Given the description of an element on the screen output the (x, y) to click on. 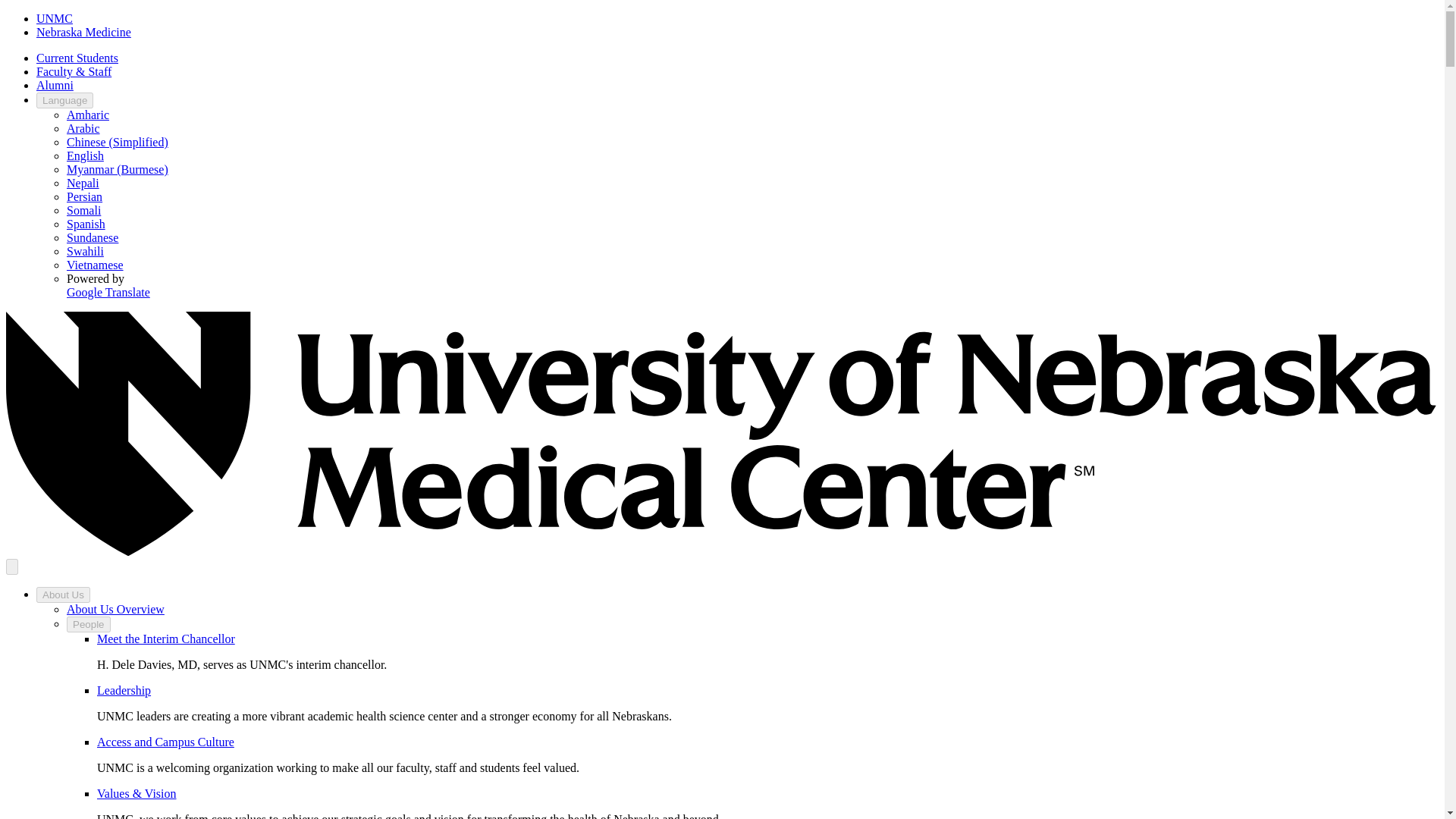
Google Translate (107, 291)
Arabic (83, 128)
About Us (63, 594)
About Us Overview (115, 608)
Vietnamese (94, 264)
English (84, 155)
Swahili (84, 250)
Amharic (87, 114)
Meet the Interim Chancellor (165, 638)
UNMC (54, 18)
Leadership (124, 689)
Nepali (82, 182)
Language (64, 100)
Current Students (76, 57)
People (88, 624)
